Given the description of an element on the screen output the (x, y) to click on. 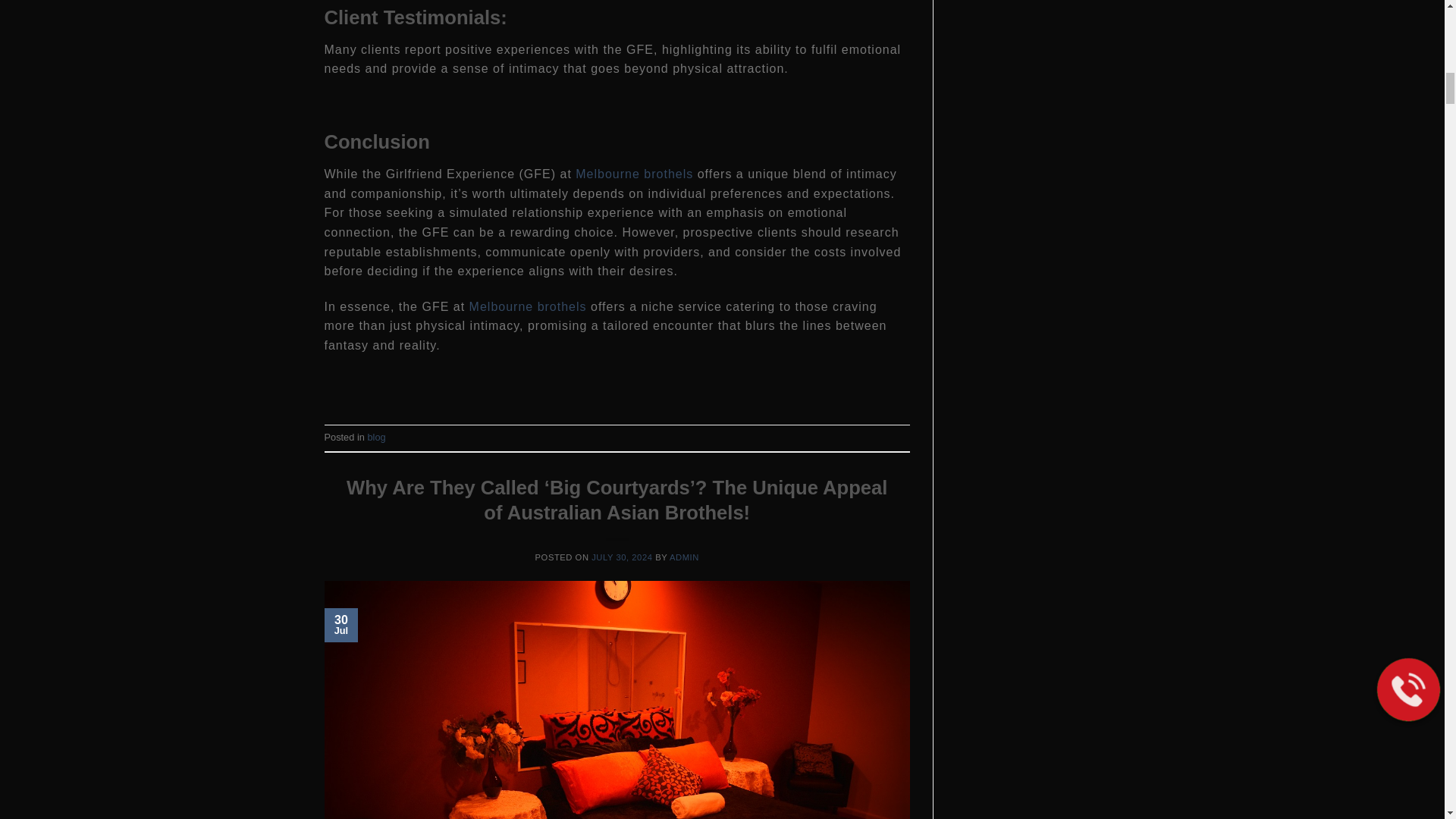
ADMIN (683, 556)
Melbourne brothels (527, 306)
Melbourne brothels (634, 173)
JULY 30, 2024 (621, 556)
blog (375, 437)
